Given the description of an element on the screen output the (x, y) to click on. 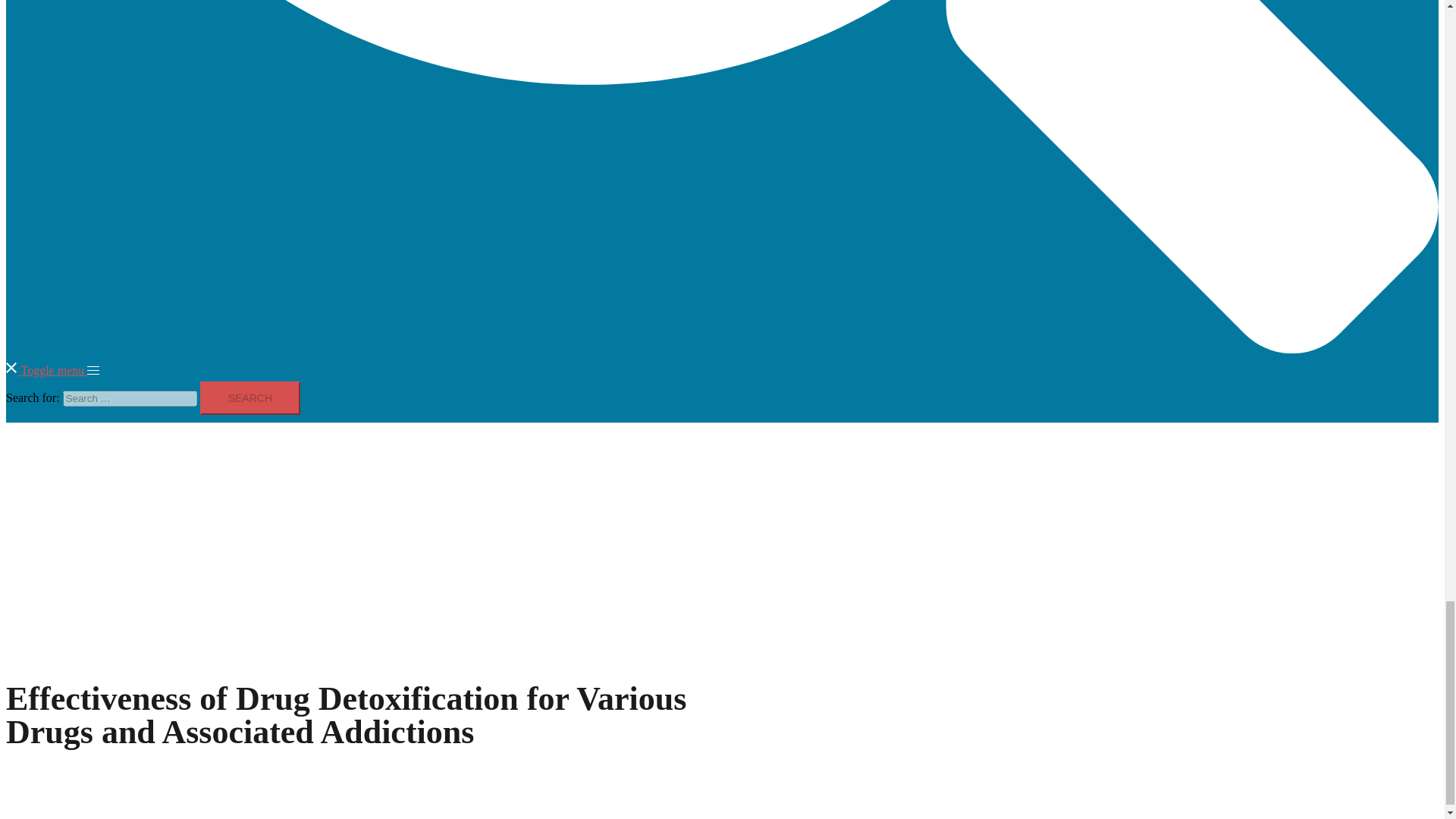
Search (249, 397)
Search (249, 397)
Toggle menu (60, 369)
Search (249, 397)
